Given the description of an element on the screen output the (x, y) to click on. 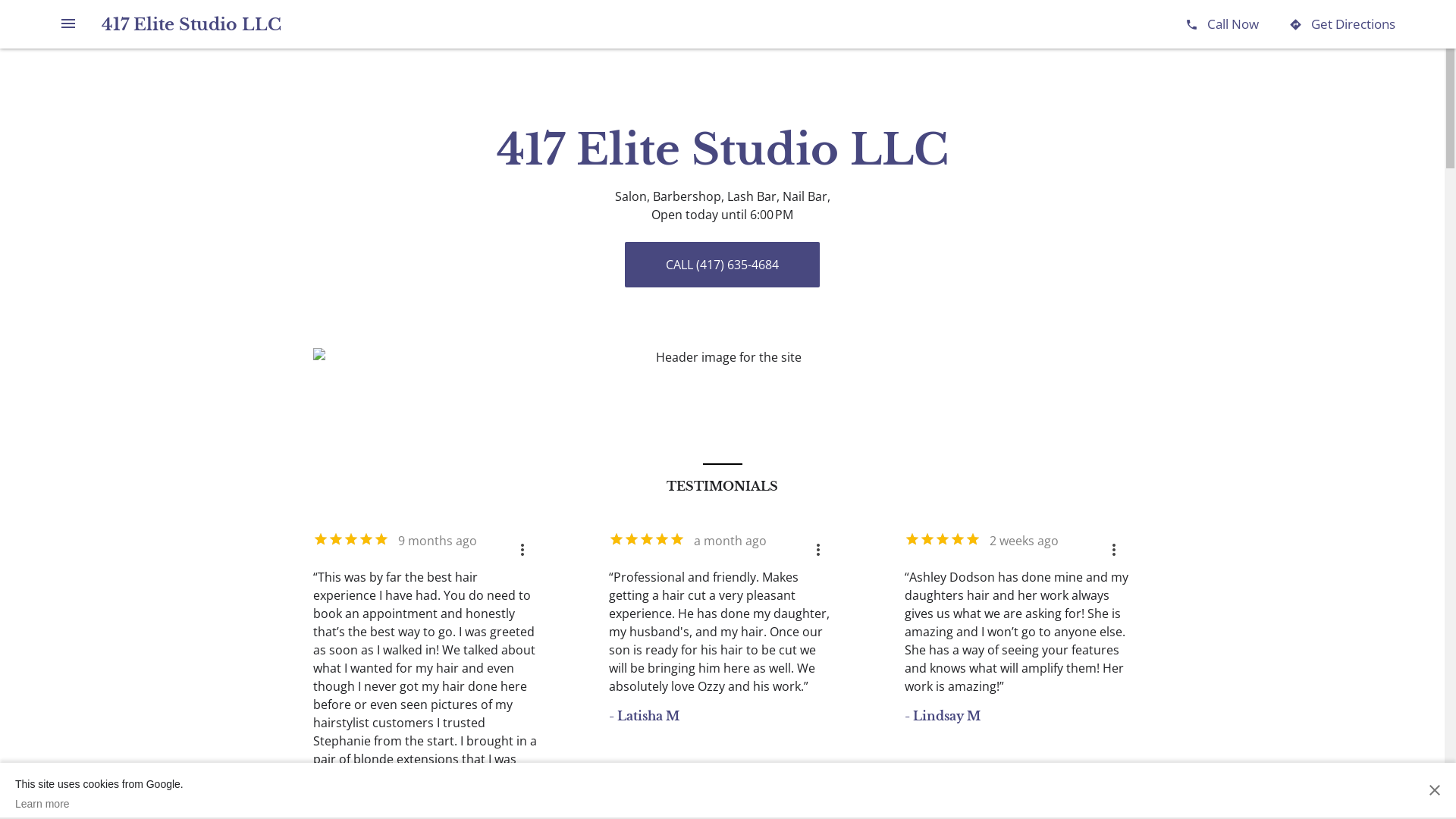
417 Elite Studio LLC Element type: text (191, 23)
Learn more Element type: text (99, 803)
CALL (417) 635-4684 Element type: text (721, 264)
